Given the description of an element on the screen output the (x, y) to click on. 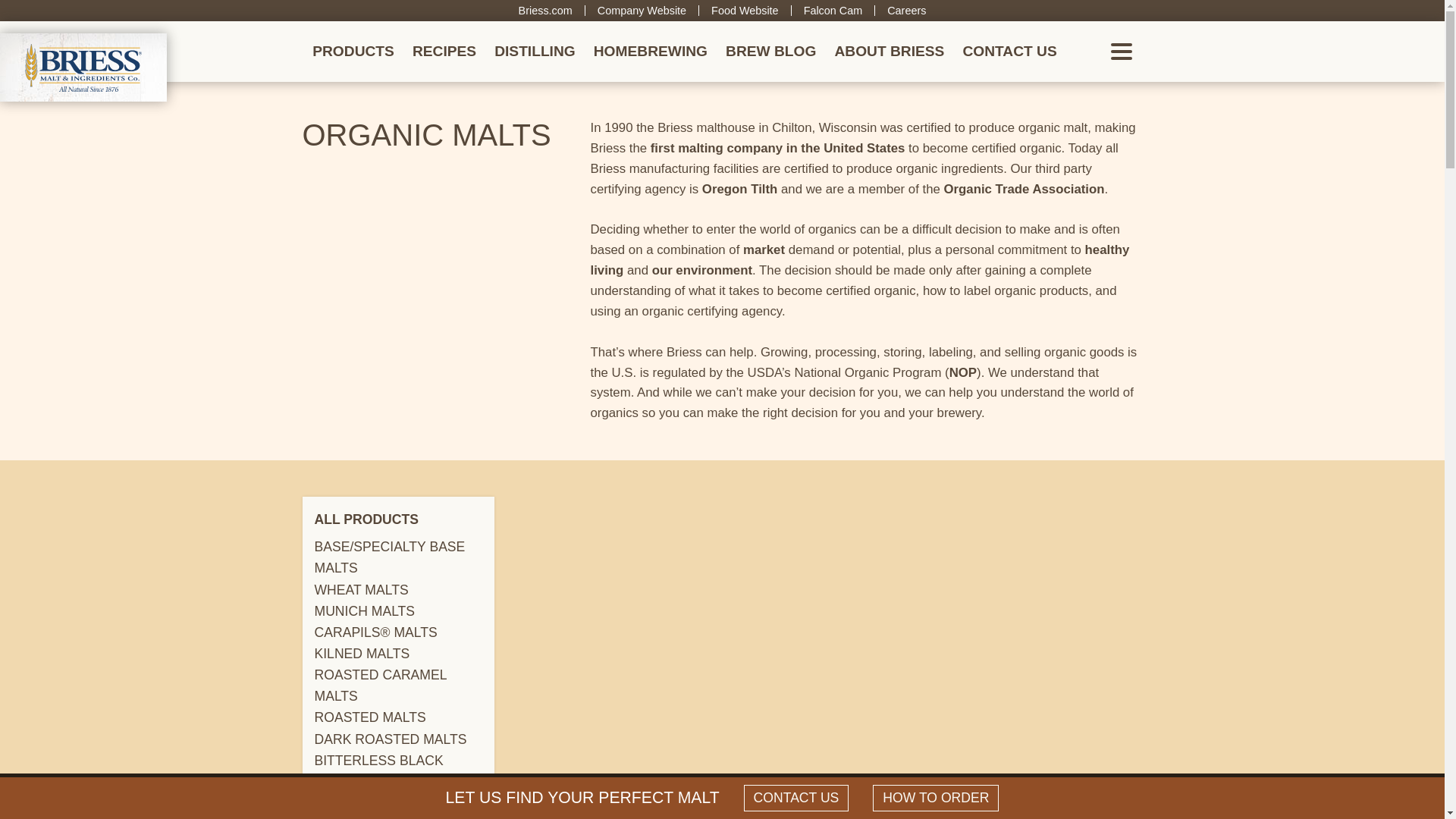
BREW BLOG (770, 51)
Falcon Cam (833, 10)
ABOUT BRIESS (889, 51)
Briess.com (545, 10)
Careers (906, 10)
DISTILLING (534, 51)
HOMEBREWING (650, 51)
Company Website (640, 10)
Food Website (744, 10)
RECIPES (443, 51)
CONTACT US (1009, 51)
PRODUCTS (352, 51)
